Given the description of an element on the screen output the (x, y) to click on. 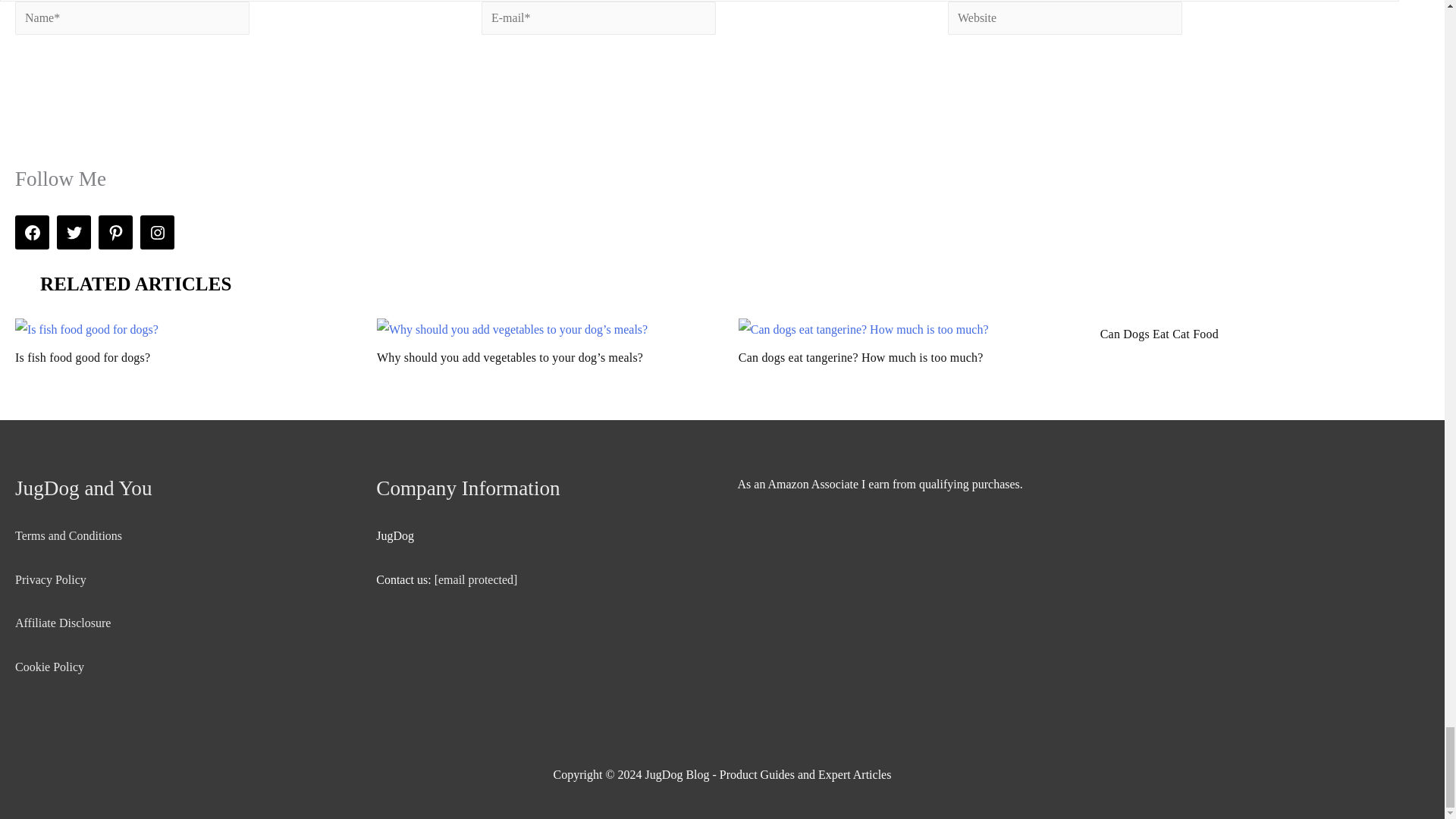
Is fish food good for dogs? (178, 341)
Can Dogs Eat Cat Food (1264, 334)
Can dogs eat tangerine? How much is too much? (902, 341)
